Given the description of an element on the screen output the (x, y) to click on. 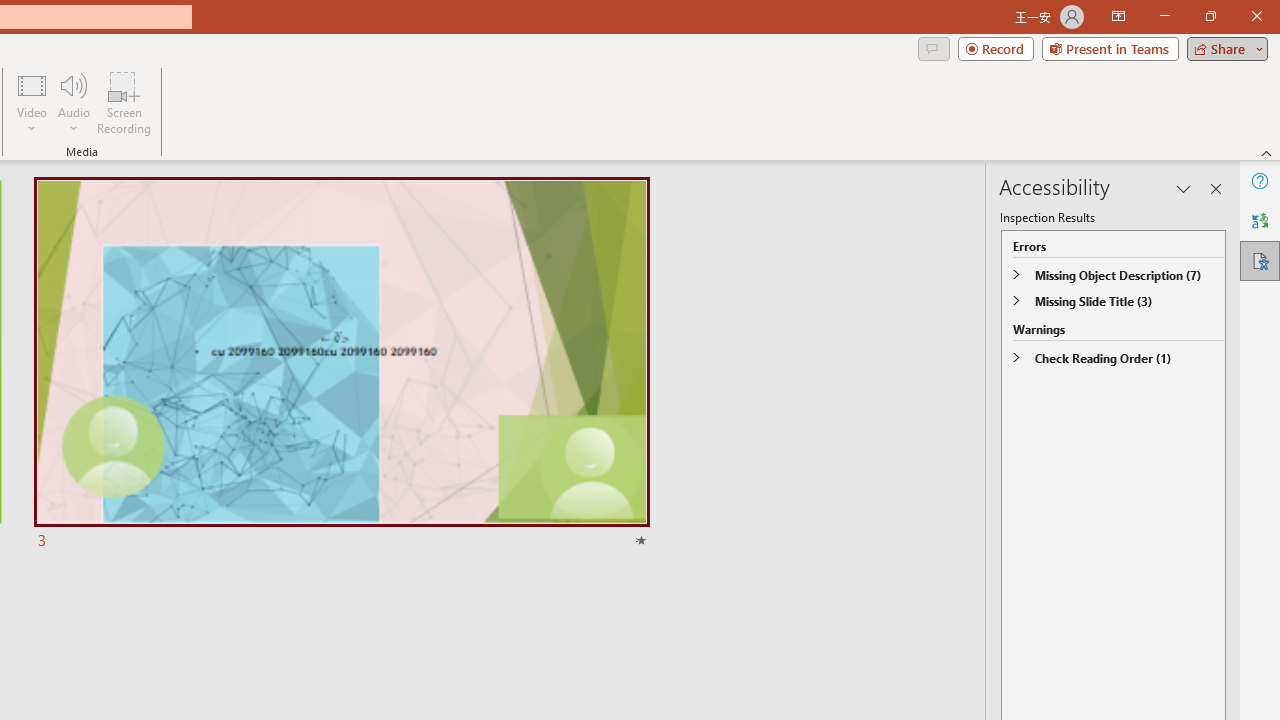
Translator (1260, 220)
Screen Recording... (123, 102)
Audio (73, 102)
